Given the description of an element on the screen output the (x, y) to click on. 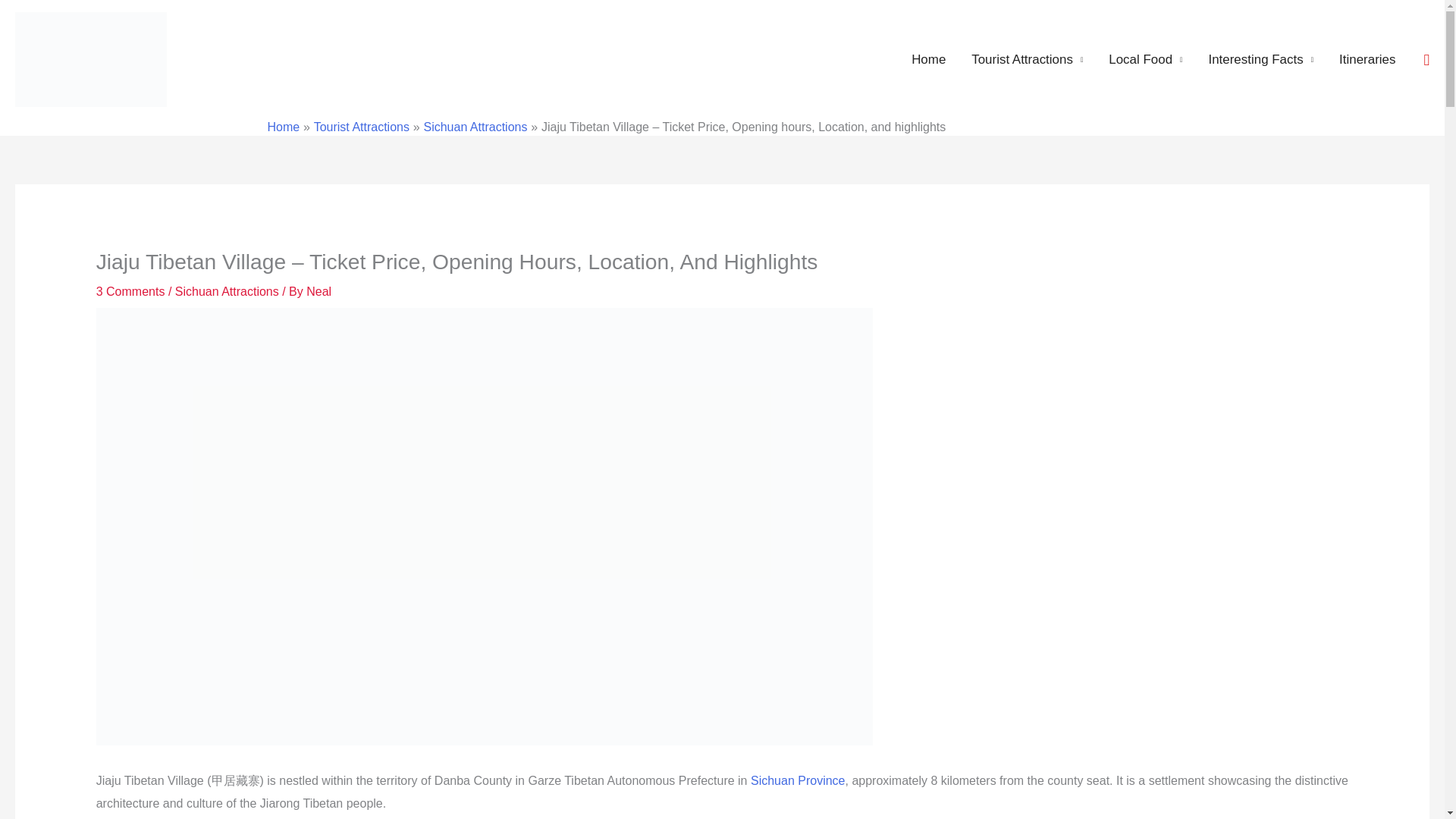
Home (928, 59)
Tourist Attractions (1027, 59)
View all posts by Neal (318, 291)
